Given the description of an element on the screen output the (x, y) to click on. 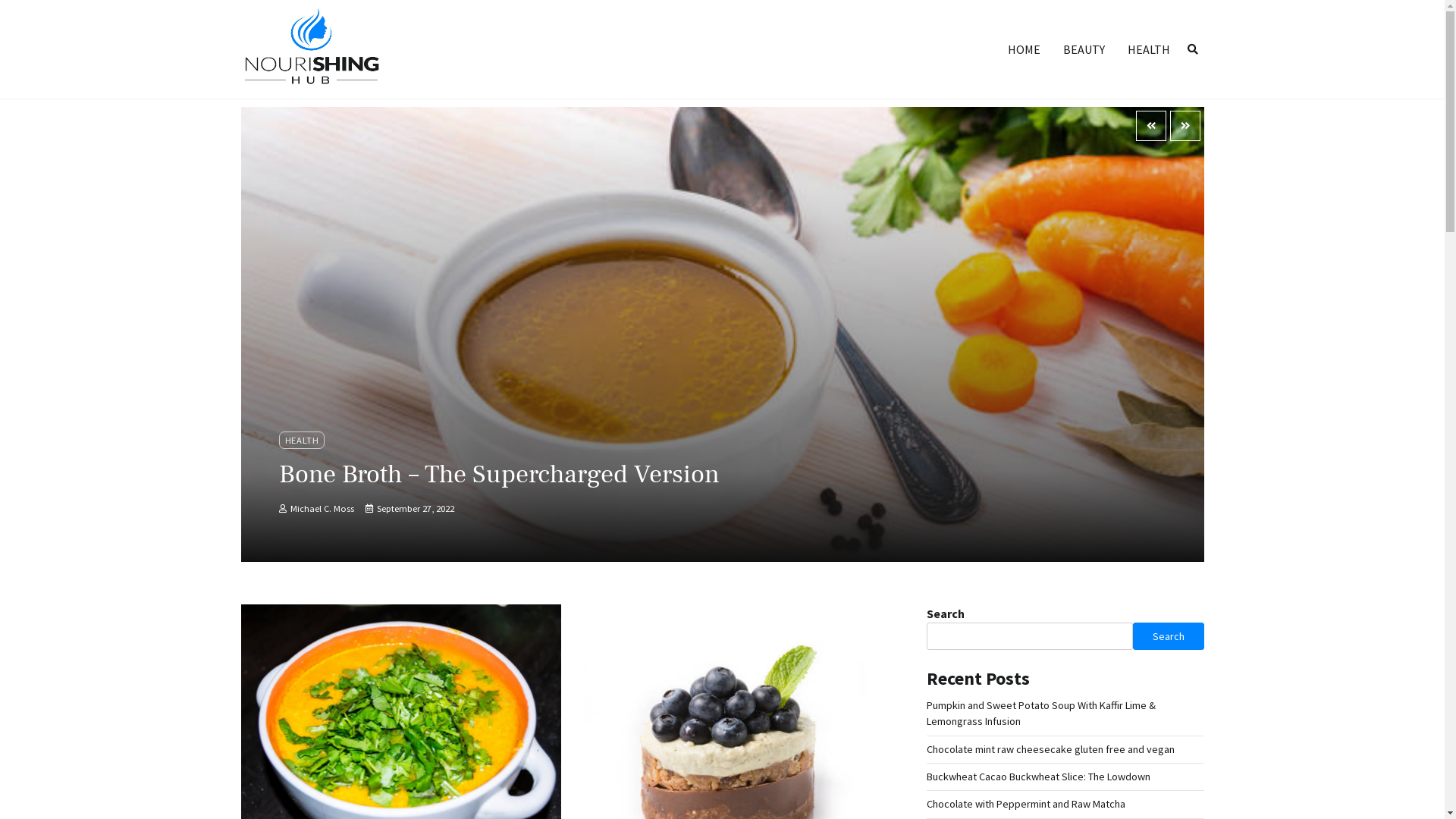
Chocolate mint raw cheesecake gluten free and vegan Element type: text (1050, 749)
BEAUTY Element type: text (1083, 49)
Search Element type: text (1164, 84)
Michael C. Moss Element type: text (316, 508)
Buckwheat Cacao Buckwheat Slice: The Lowdown Element type: text (1038, 776)
BEAUTY Element type: text (302, 439)
Search Element type: hover (1192, 48)
HOME Element type: text (1023, 49)
Search Element type: text (1168, 635)
Chocolate with Peppermint and Raw Matcha Element type: text (1025, 803)
HEALTH Element type: text (1148, 49)
